Given the description of an element on the screen output the (x, y) to click on. 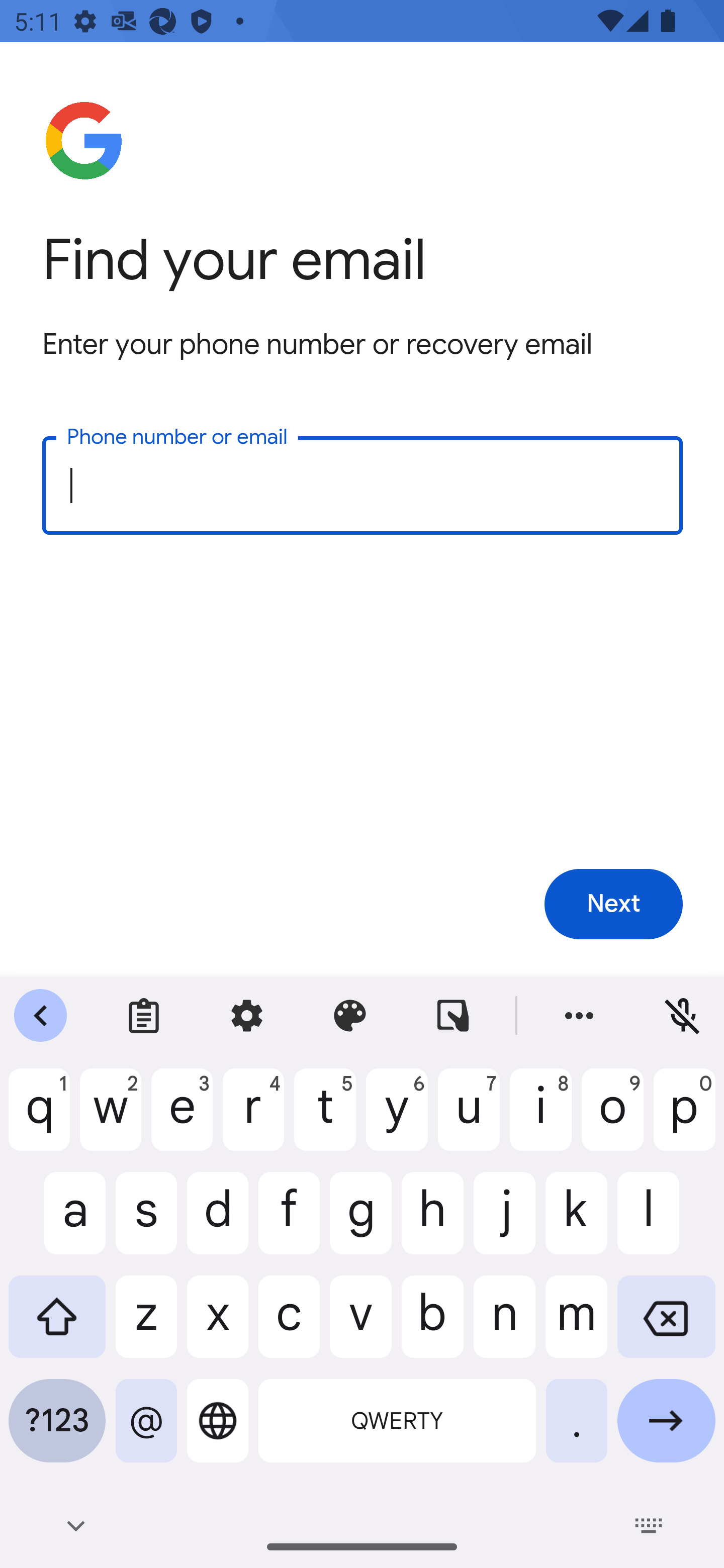
Next (613, 904)
